Given the description of an element on the screen output the (x, y) to click on. 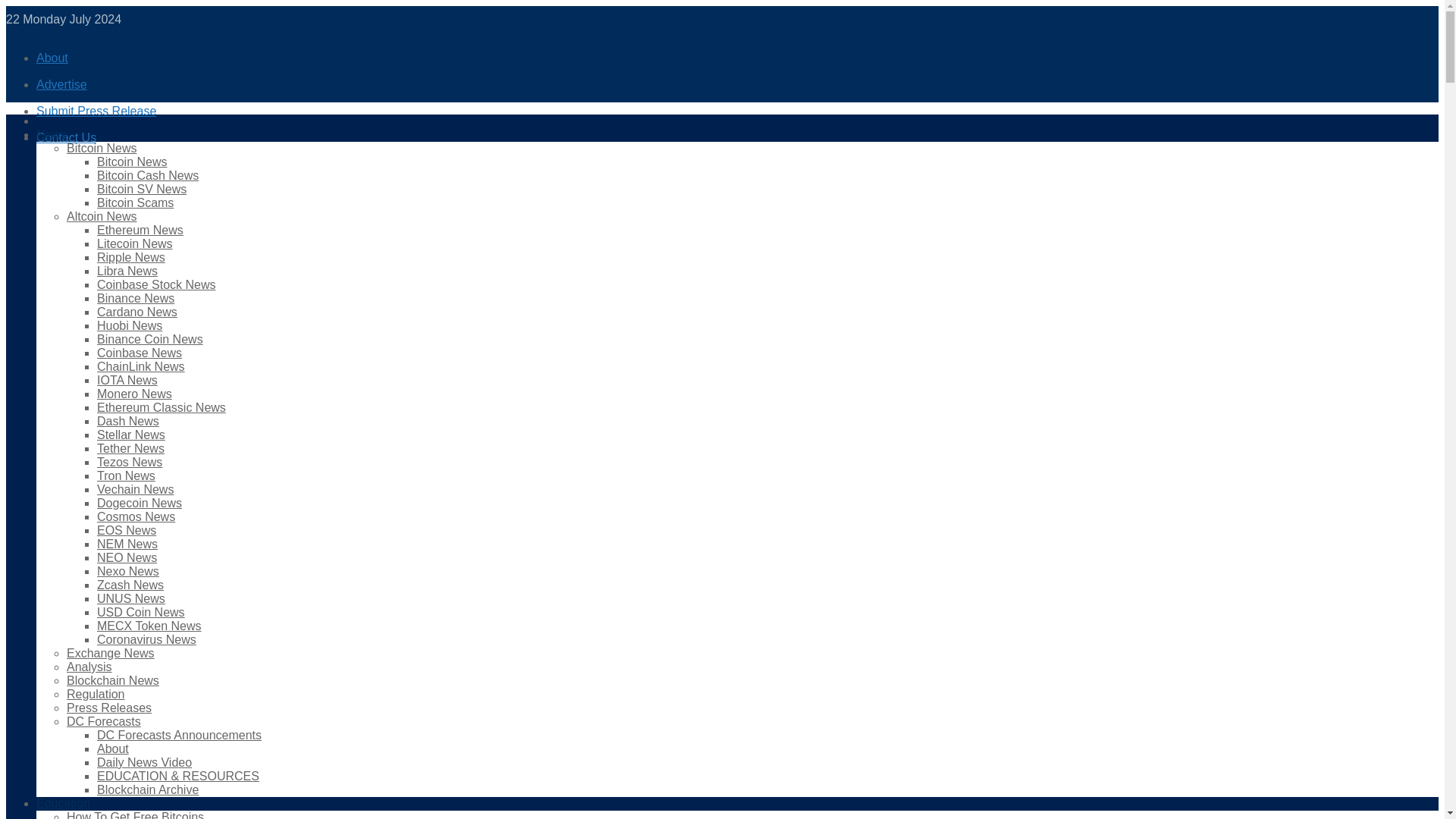
Bitcoin News (101, 147)
Ethereum Classic News (161, 407)
Coinbase News (139, 352)
Libra News (127, 270)
Tether News (130, 448)
Bitcoin Scams (135, 202)
Submit Press Release (95, 110)
Cosmos News (135, 516)
Contact Us (66, 137)
ChainLink News (140, 366)
EOS News (126, 530)
Ethereum News (140, 229)
Litecoin News (135, 243)
Altcoin News (101, 215)
Dogecoin News (139, 502)
